Given the description of an element on the screen output the (x, y) to click on. 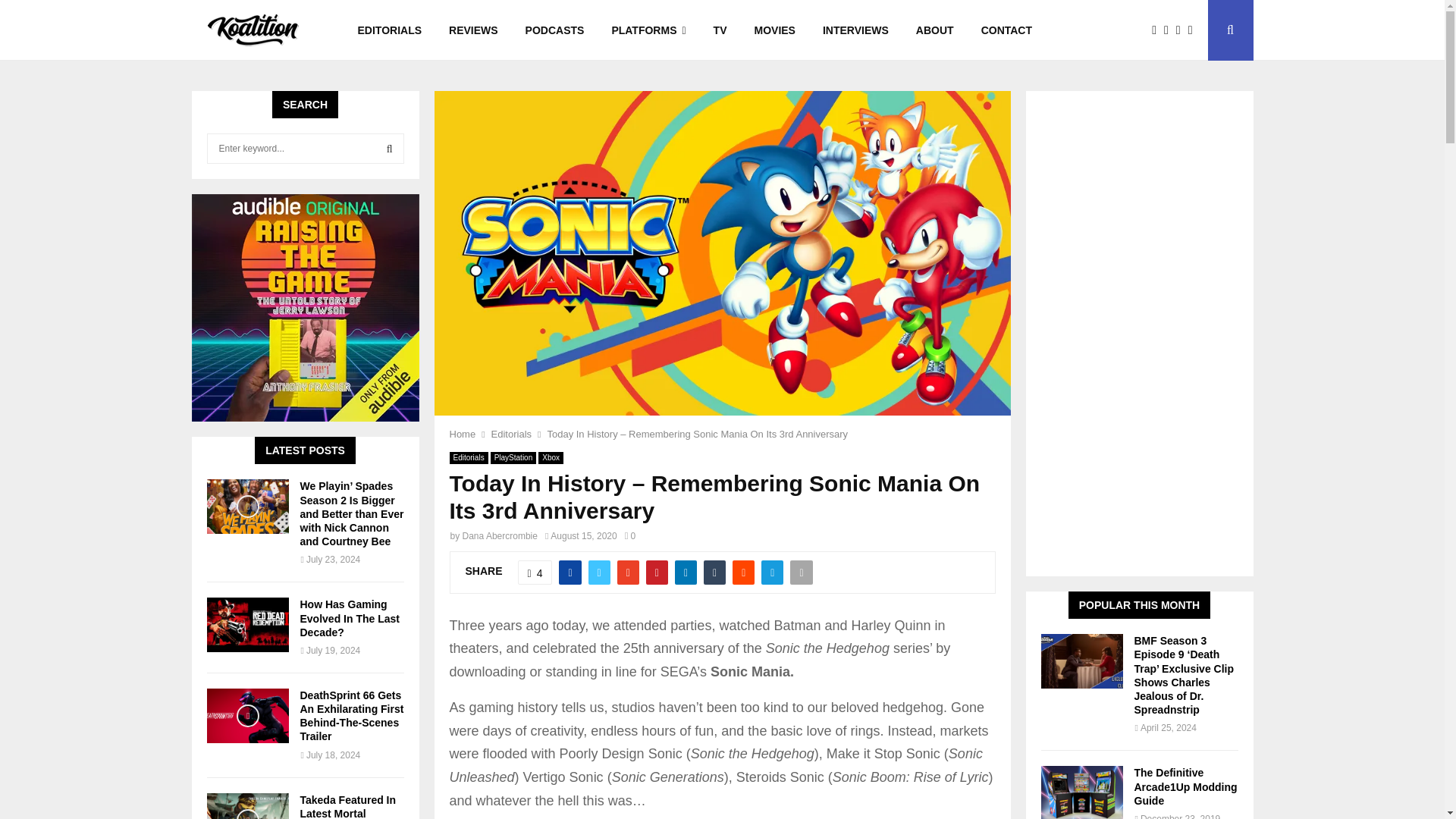
MOVIES (773, 30)
PODCASTS (555, 30)
INTERVIEWS (855, 30)
PLATFORMS (647, 30)
CONTACT (1006, 30)
REVIEWS (473, 30)
EDITORIALS (389, 30)
ABOUT (935, 30)
Like (535, 571)
